Given the description of an element on the screen output the (x, y) to click on. 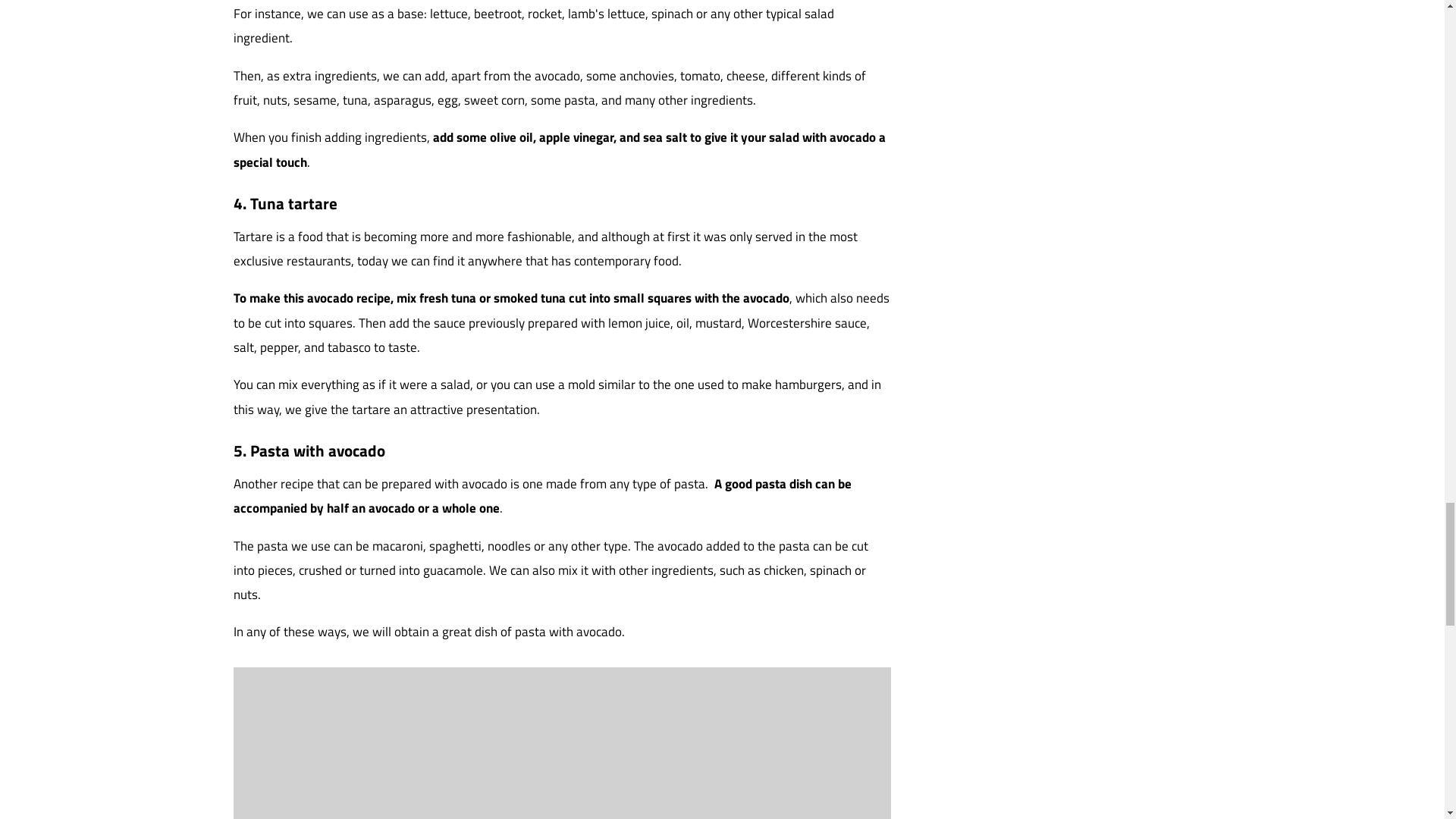
Salad with avocado (561, 743)
